Given the description of an element on the screen output the (x, y) to click on. 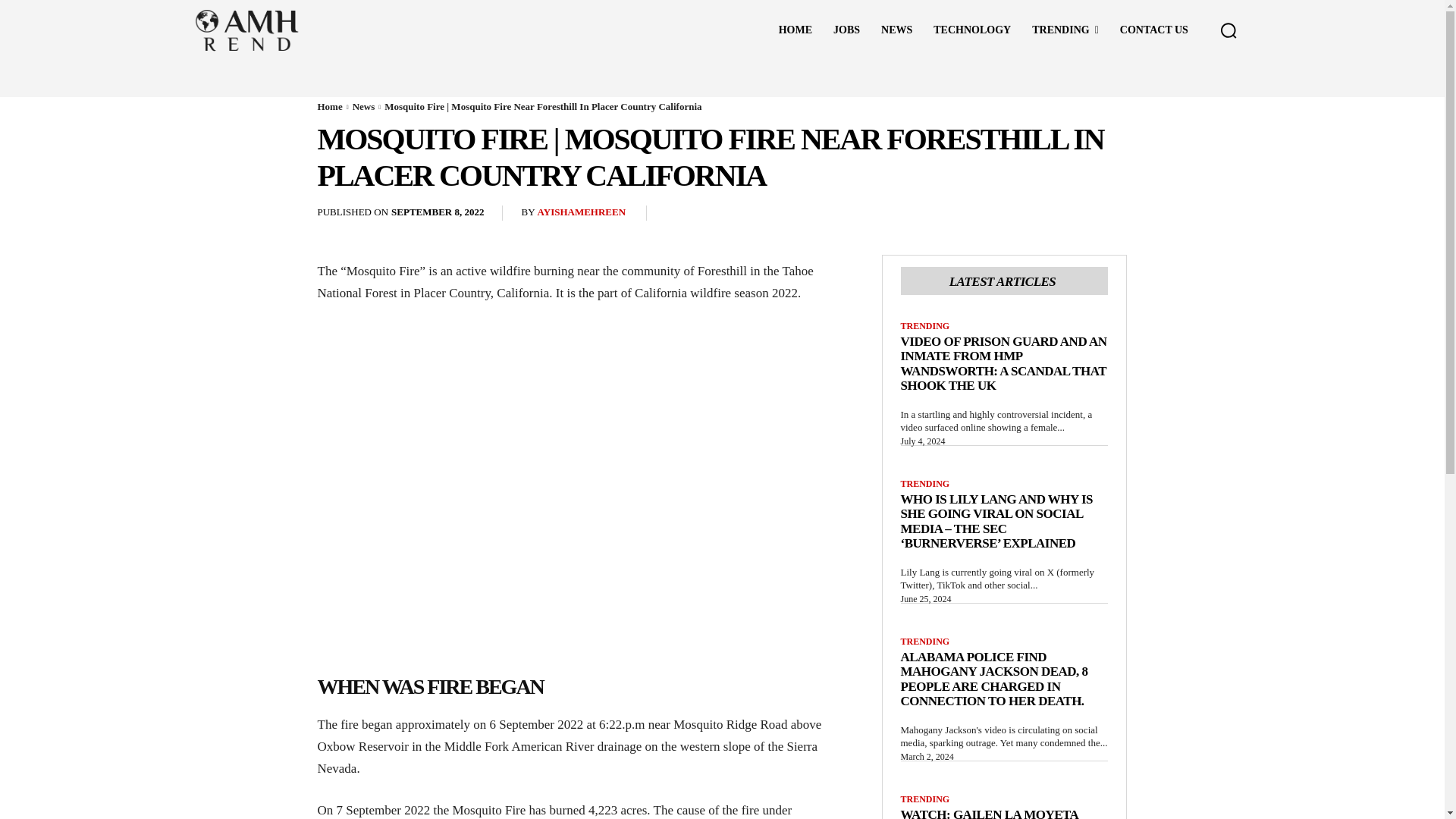
TECHNOLOGY (972, 30)
TRENDING (925, 326)
AYISHAMEHREEN (581, 212)
View all posts in News (363, 106)
TRENDING (925, 483)
WATCH: Gailen la Moyeta Video trending On Twitter (997, 813)
HOME (795, 30)
News (363, 106)
